Given the description of an element on the screen output the (x, y) to click on. 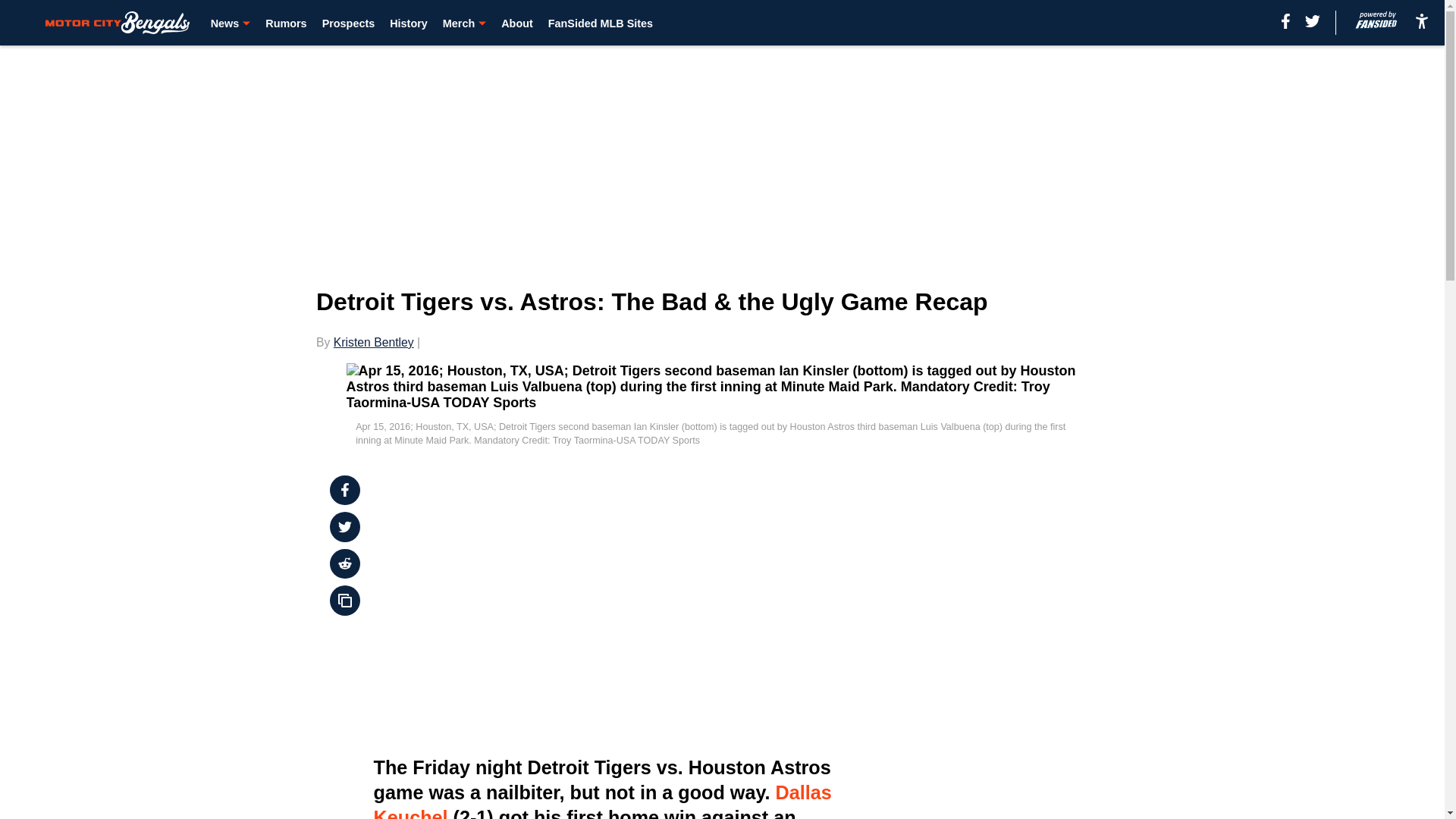
Dallas Keuchel (602, 800)
Rumors (284, 23)
History (409, 23)
FanSided MLB Sites (600, 23)
Kristen Bentley (373, 341)
Prospects (348, 23)
About (516, 23)
